Given the description of an element on the screen output the (x, y) to click on. 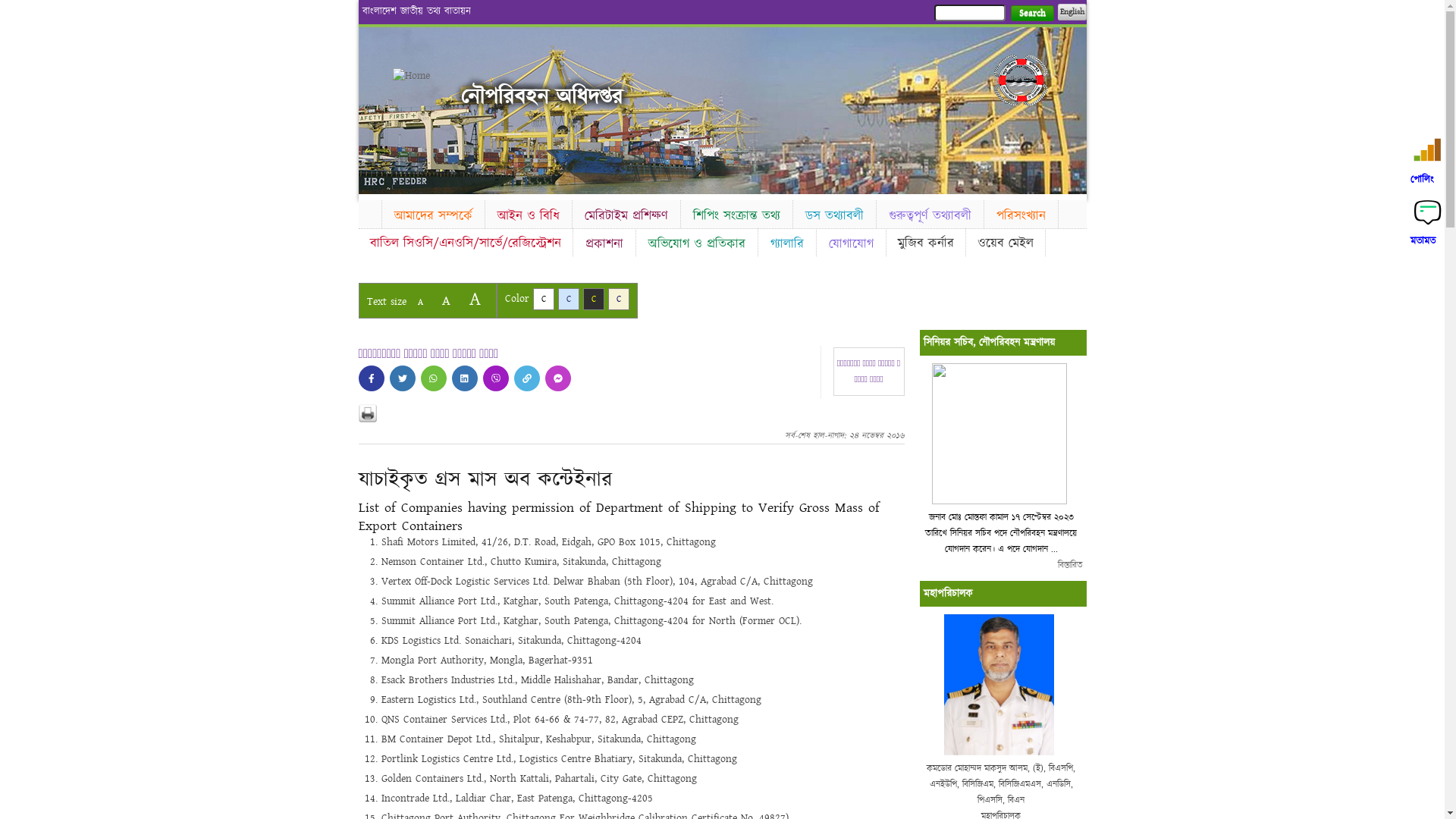
Home Element type: hover (418, 76)
English Element type: text (1071, 11)
C Element type: text (542, 299)
Home Element type: hover (368, 211)
A Element type: text (474, 298)
C Element type: text (618, 299)
C Element type: text (592, 299)
Search Element type: text (1031, 13)
A Element type: text (419, 301)
C Element type: text (568, 299)
A Element type: text (445, 300)
